Given the description of an element on the screen output the (x, y) to click on. 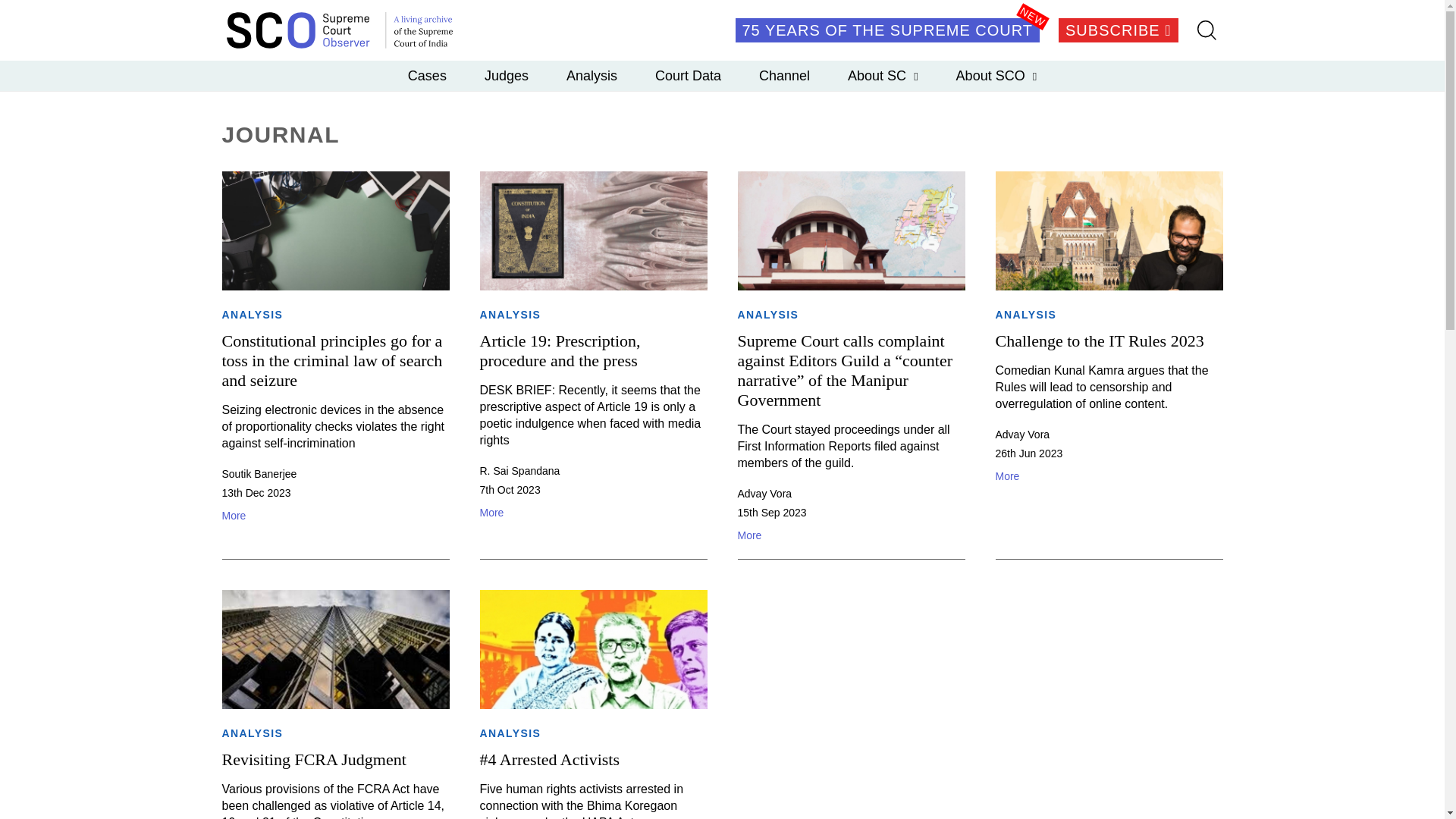
Soutik Banerjee (259, 473)
Judges (506, 75)
Advay Vora (764, 493)
More (592, 513)
Cases (426, 75)
More (1108, 476)
More (334, 516)
Analysis (591, 75)
More (849, 535)
Revisiting FCRA Judgment (313, 759)
Article 19: Prescription, procedure and the press (559, 350)
75 YEARS OF THE SUPREME COURT (888, 30)
Challenge to the IT Rules 2023 (1099, 340)
Channel (783, 75)
About SCO (996, 75)
